Given the description of an element on the screen output the (x, y) to click on. 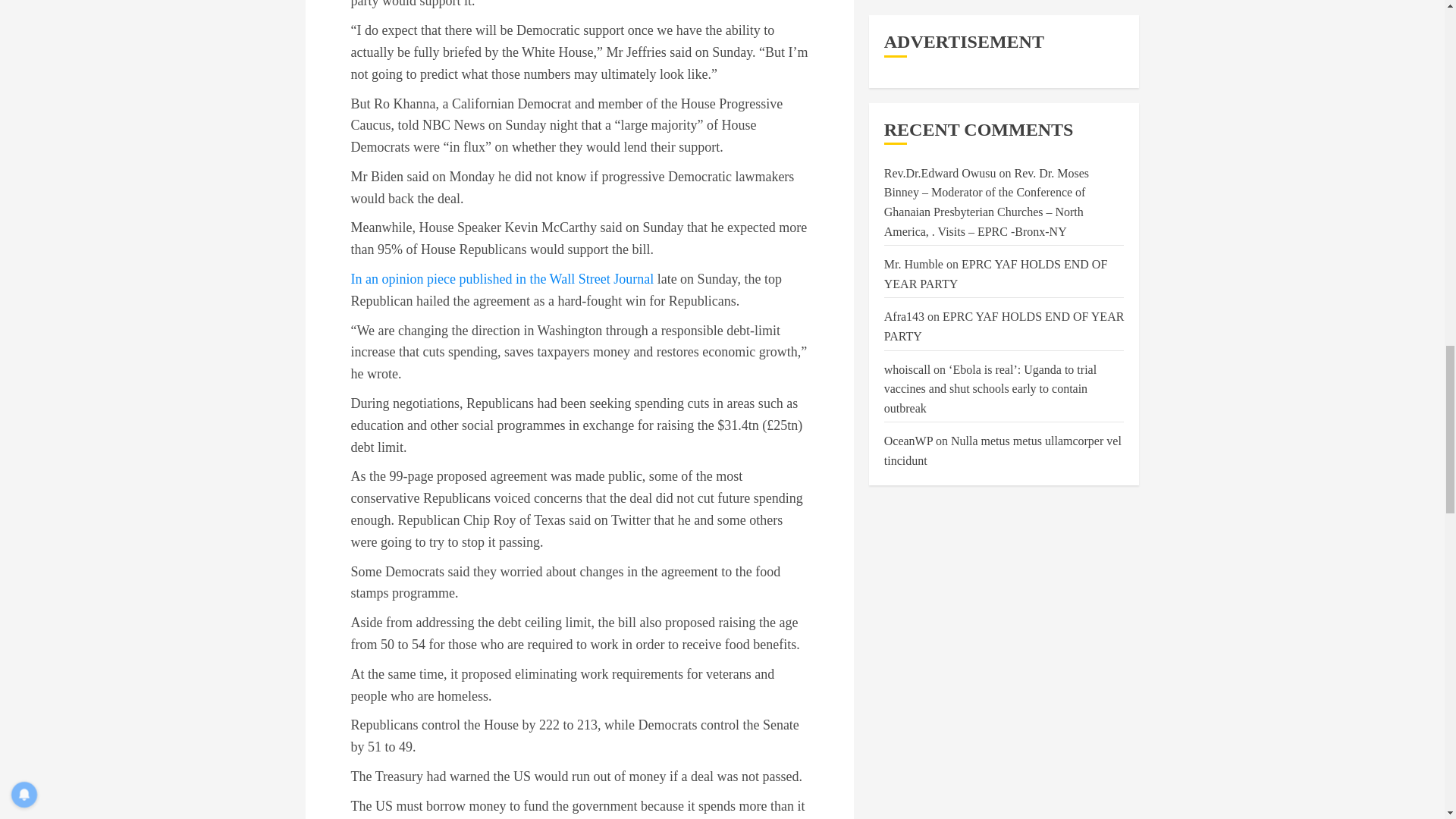
In an opinion piece published in the Wall Street Journal (501, 278)
